Given the description of an element on the screen output the (x, y) to click on. 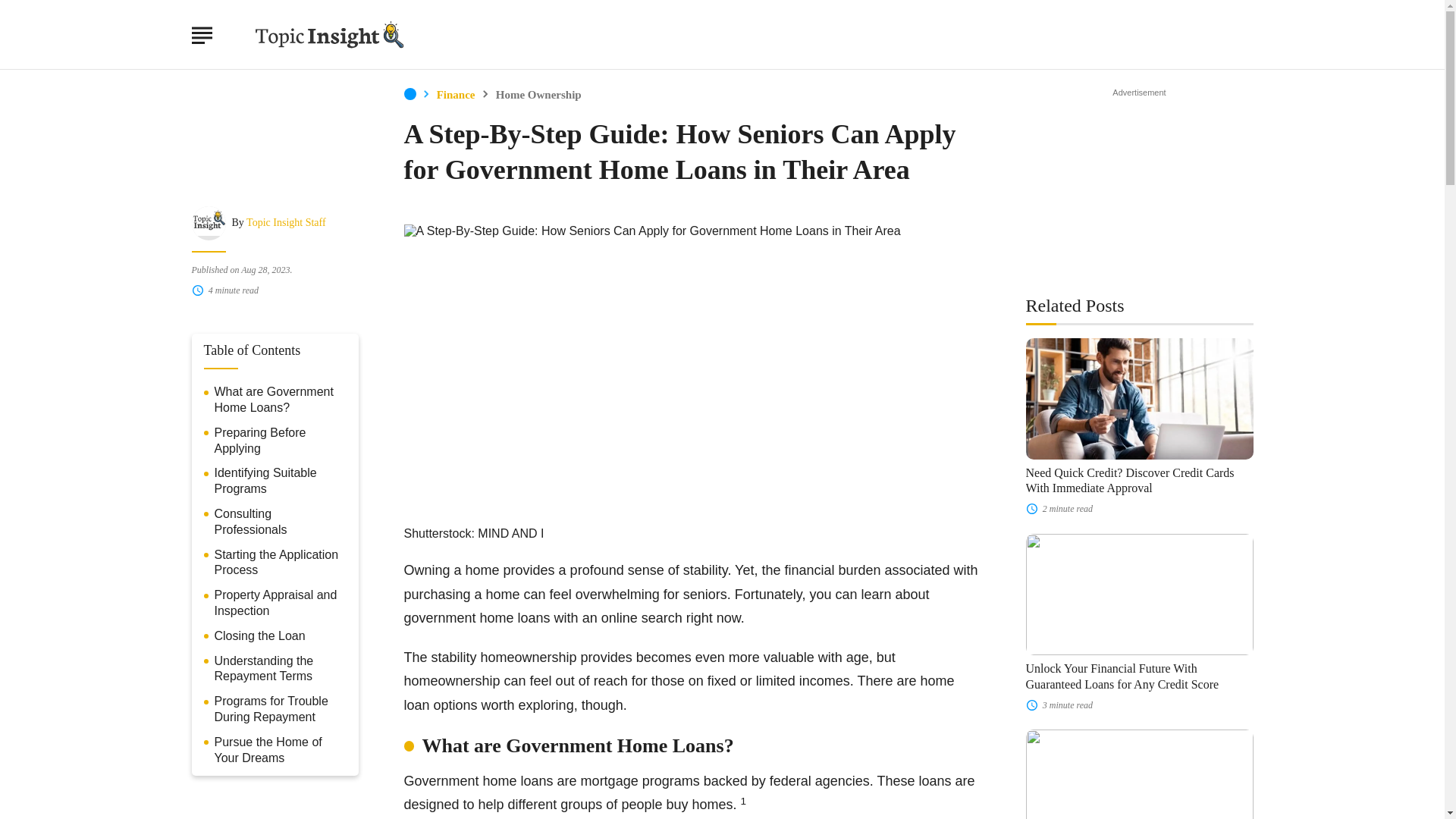
Home Ownership (538, 94)
Consulting Professionals (280, 522)
Finance (456, 94)
Starting the Application Process (280, 563)
Property Appraisal and Inspection (280, 603)
Programs for Trouble During Repayment (280, 709)
Preparing Before Applying (280, 441)
Home (408, 93)
